Given the description of an element on the screen output the (x, y) to click on. 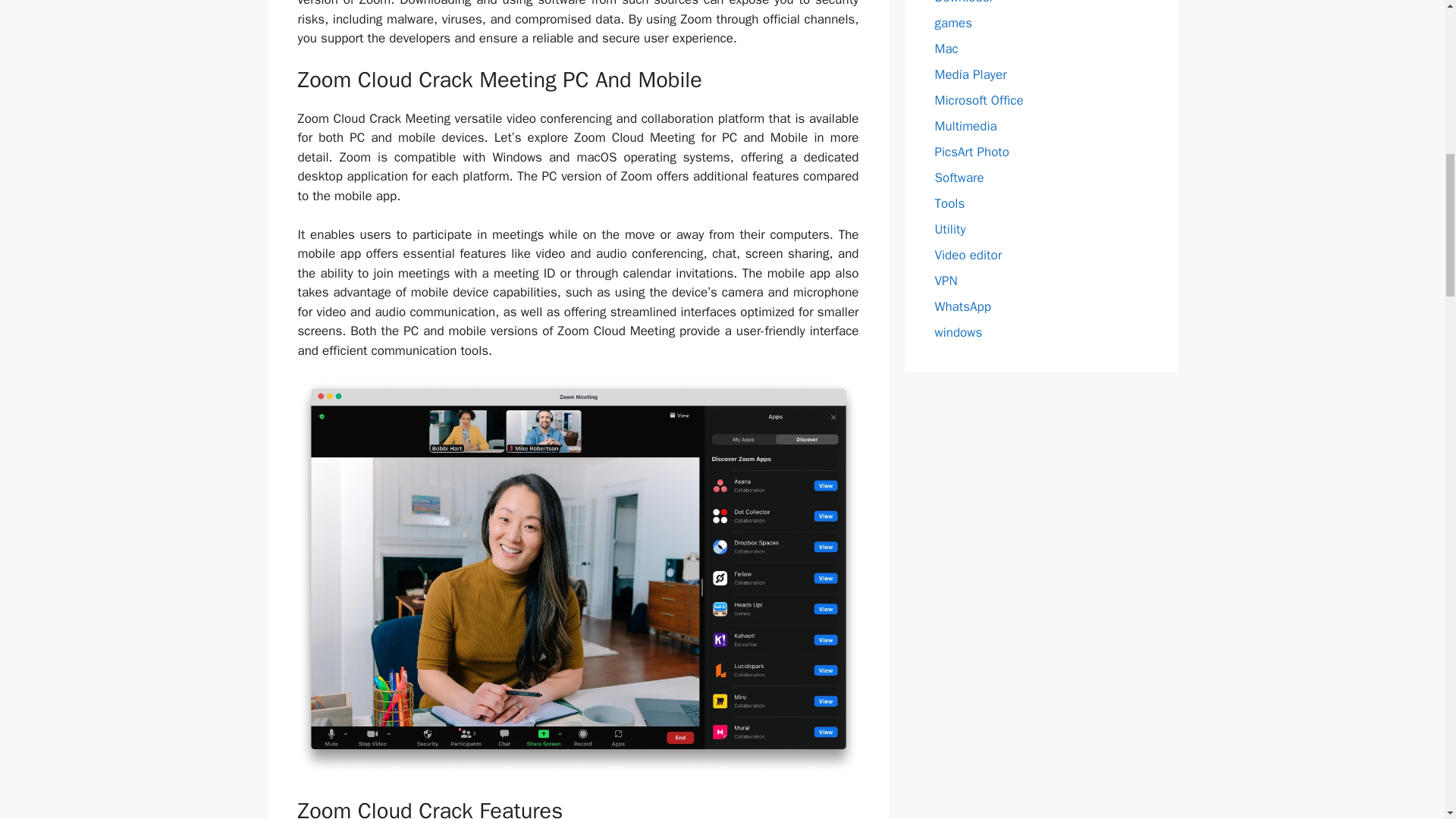
Mac (946, 48)
Media Player (970, 74)
games (953, 23)
Downloder (963, 2)
